Given the description of an element on the screen output the (x, y) to click on. 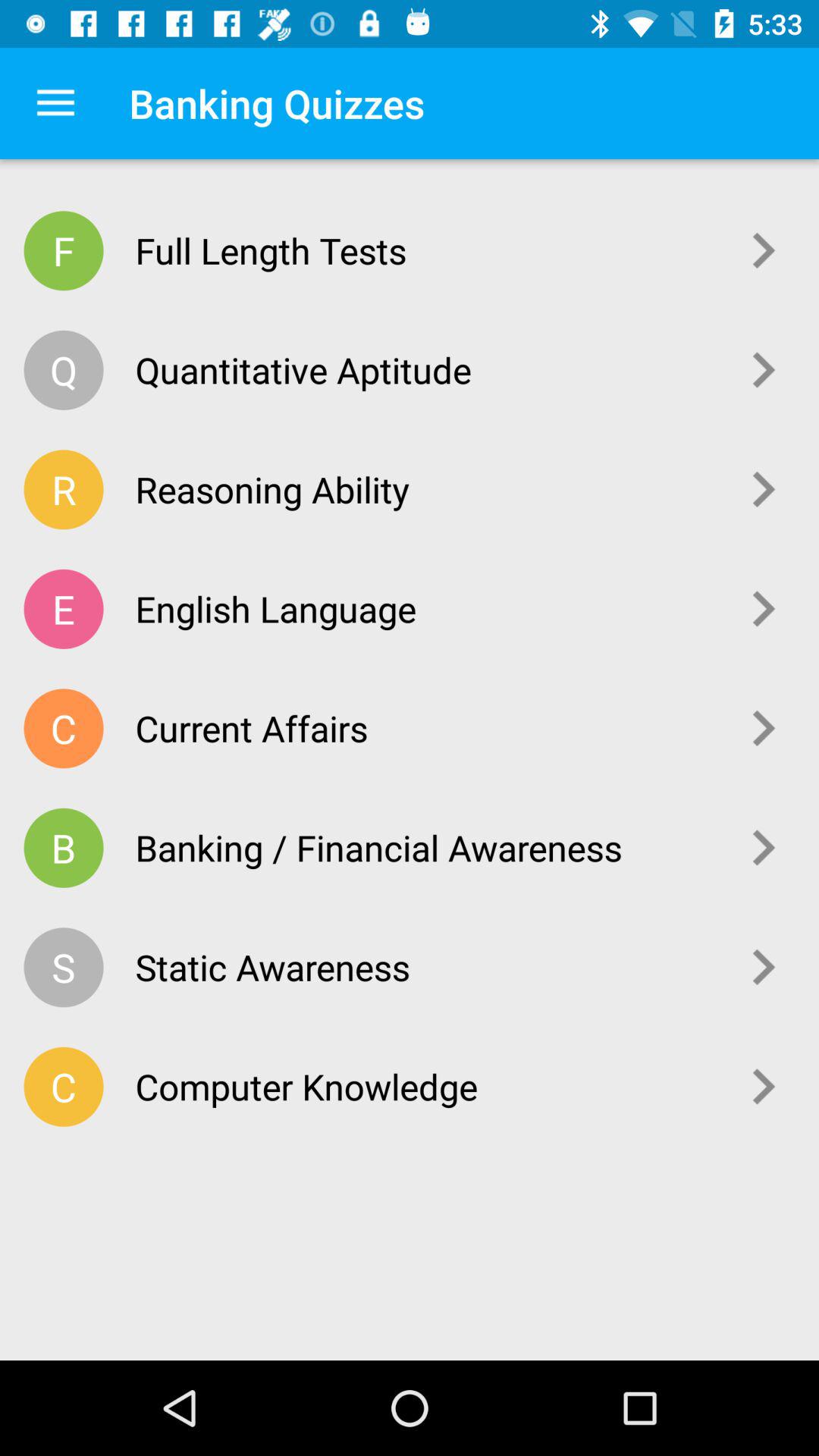
turn on the item to the right of the current affairs icon (763, 728)
